Given the description of an element on the screen output the (x, y) to click on. 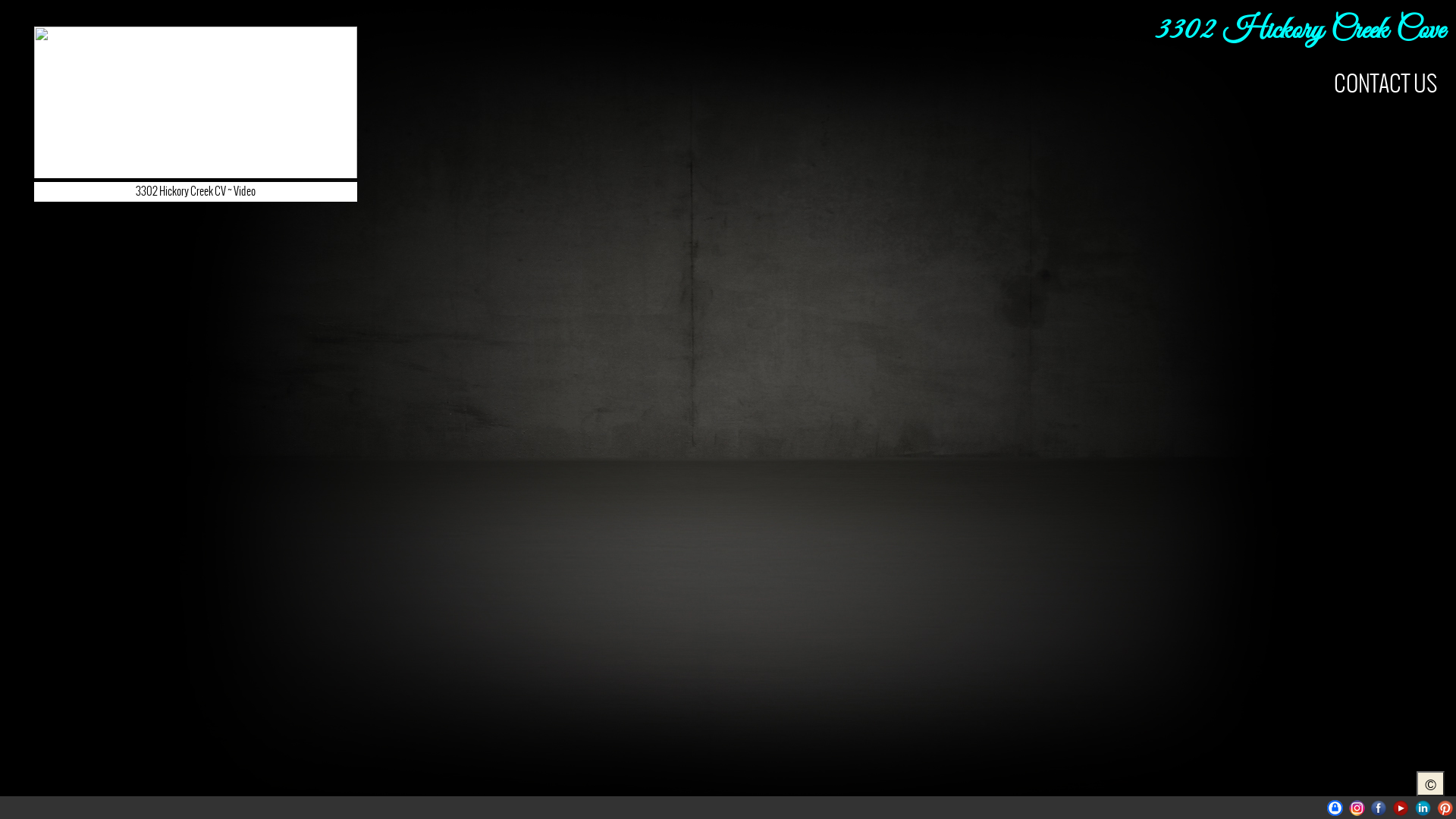
Youtube Element type: text (1400, 807)
UniqueAustinProperties | BrianLanglois Element type: text (1335, 807)
CONTACT US Element type: text (1385, 83)
Pinterest Element type: text (1444, 807)
3302 Hickory Creek Cove Element type: text (1299, 30)
Instagram Element type: text (1357, 807)
3302 Hickory Creek CV ~ Video Element type: text (195, 126)
LinkedIn Element type: text (1422, 807)
Facebook Element type: text (1378, 807)
